Given the description of an element on the screen output the (x, y) to click on. 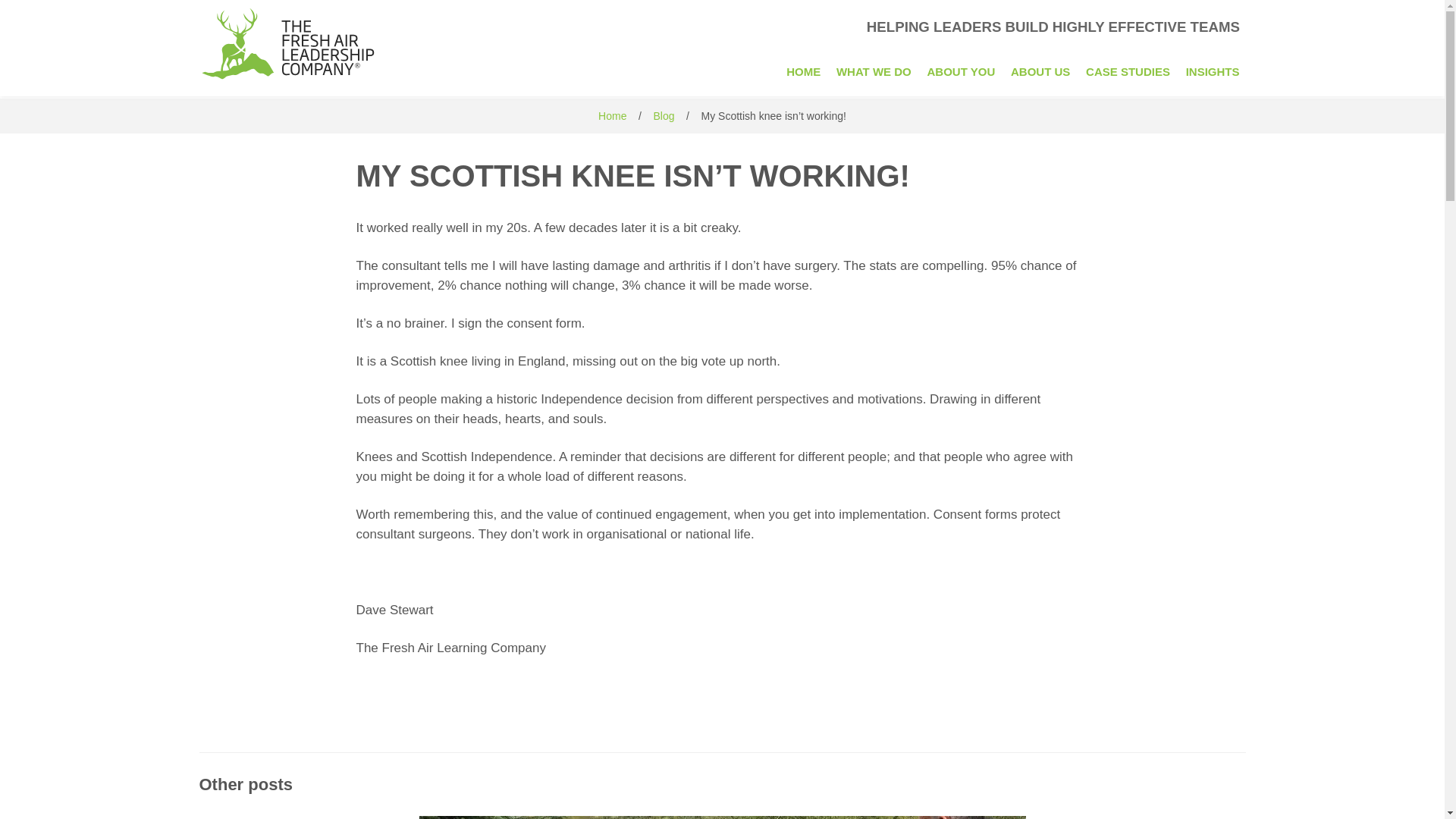
Blog (663, 115)
Home (612, 115)
ABOUT US (1039, 71)
HOME (803, 71)
Go to The Fresh Air Leadership Company. (612, 115)
WHAT WE DO (873, 71)
Go to the Blog category archives. (663, 115)
ABOUT YOU (961, 71)
CASE STUDIES (1128, 71)
INSIGHTS (1212, 71)
HELPING LEADERS BUILD HIGHLY EFFECTIVE TEAMS (721, 39)
The Fresh Air Leadership Company (721, 39)
